Given the description of an element on the screen output the (x, y) to click on. 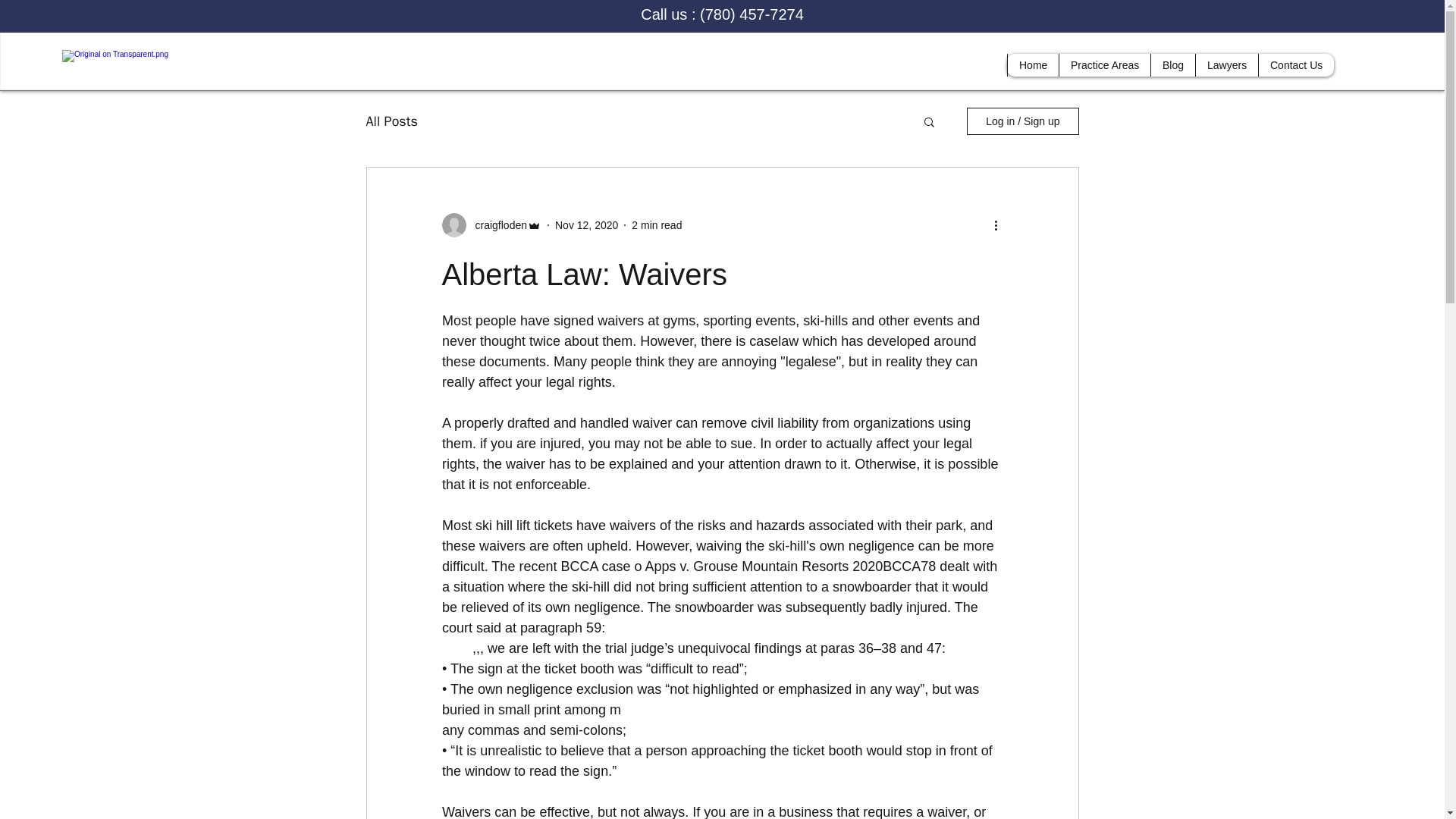
craigfloden (496, 224)
All Posts (390, 121)
2 min read (656, 224)
Lawyers (1226, 65)
Contact Us (1295, 65)
Home (1032, 65)
Nov 12, 2020 (585, 224)
Blog (1172, 65)
